Given the description of an element on the screen output the (x, y) to click on. 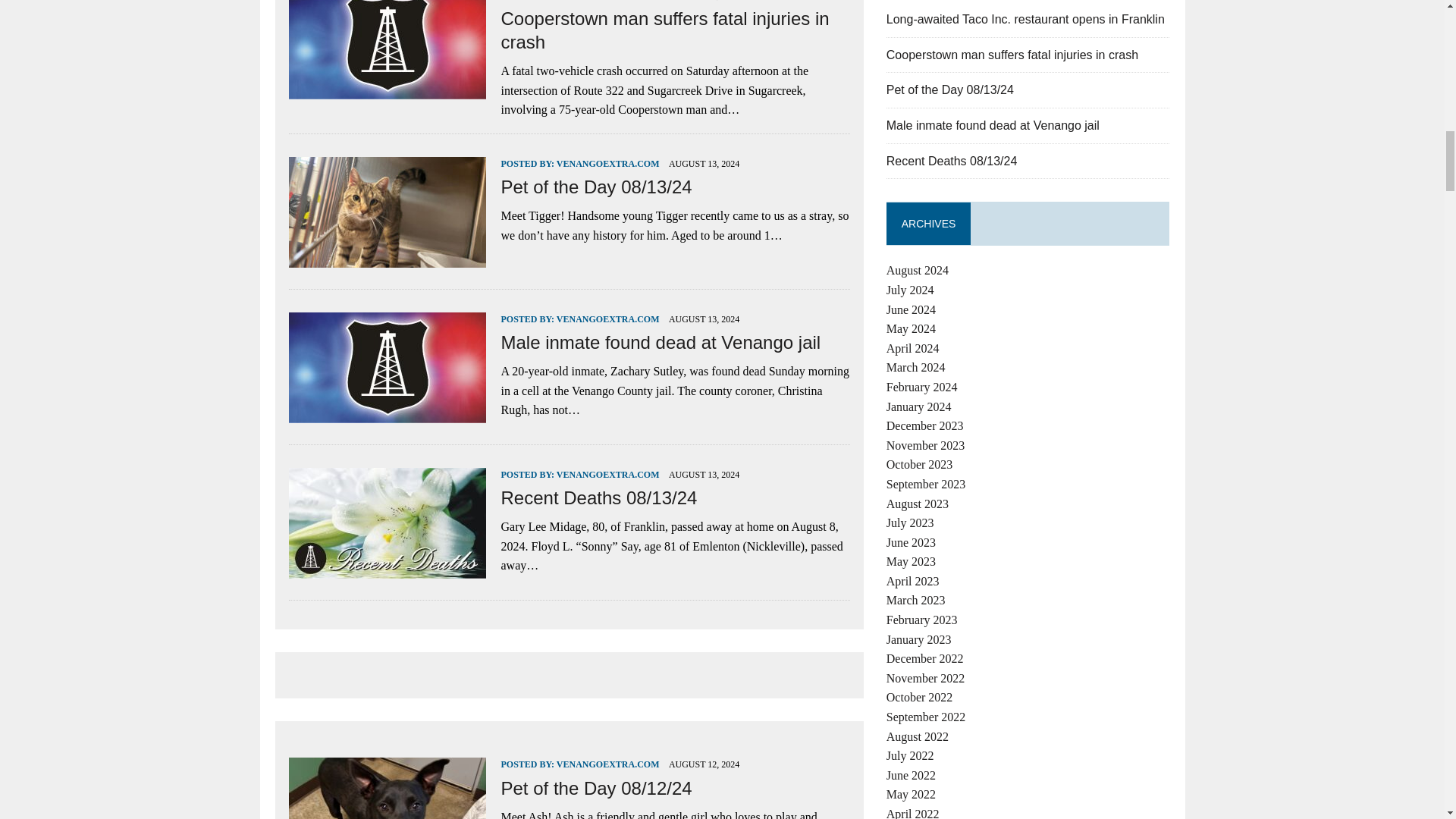
Cooperstown man suffers fatal injuries in crash (664, 30)
Male inmate found dead at Venango jail (386, 412)
Cooperstown man suffers fatal injuries in crash (664, 30)
Cooperstown man suffers fatal injuries in crash (386, 88)
Male inmate found dead at Venango jail (660, 342)
